Given the description of an element on the screen output the (x, y) to click on. 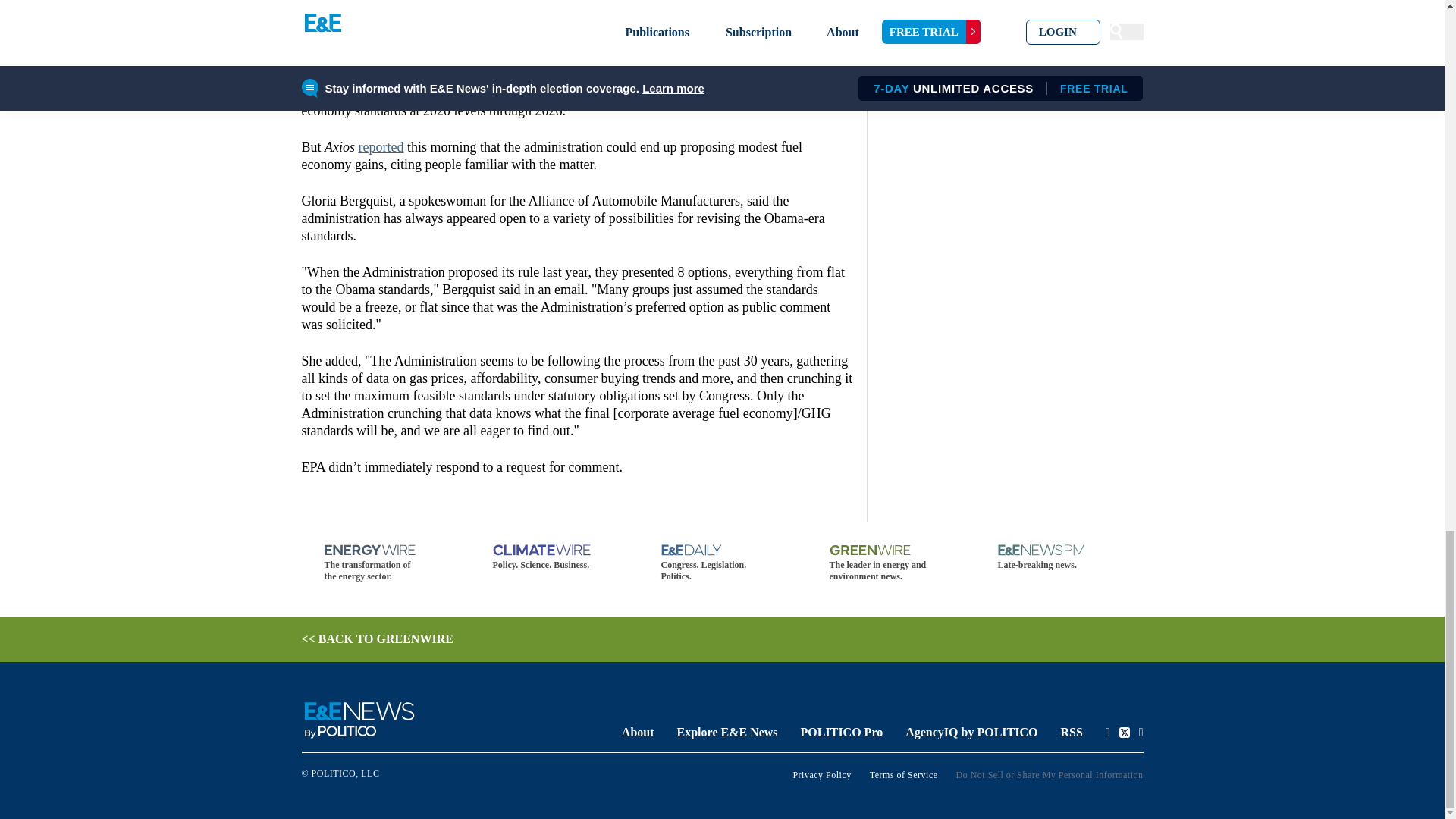
The transformation of the energy sector. (385, 563)
reported (381, 146)
About (637, 731)
Policy. Science. Business. (554, 557)
The leader in energy and environment news. (890, 563)
AgencyIQ by POLITICO (970, 731)
Congress. Legislation. Politics. (722, 563)
POLITICO Pro (841, 731)
Late-breaking news. (1058, 557)
